Given the description of an element on the screen output the (x, y) to click on. 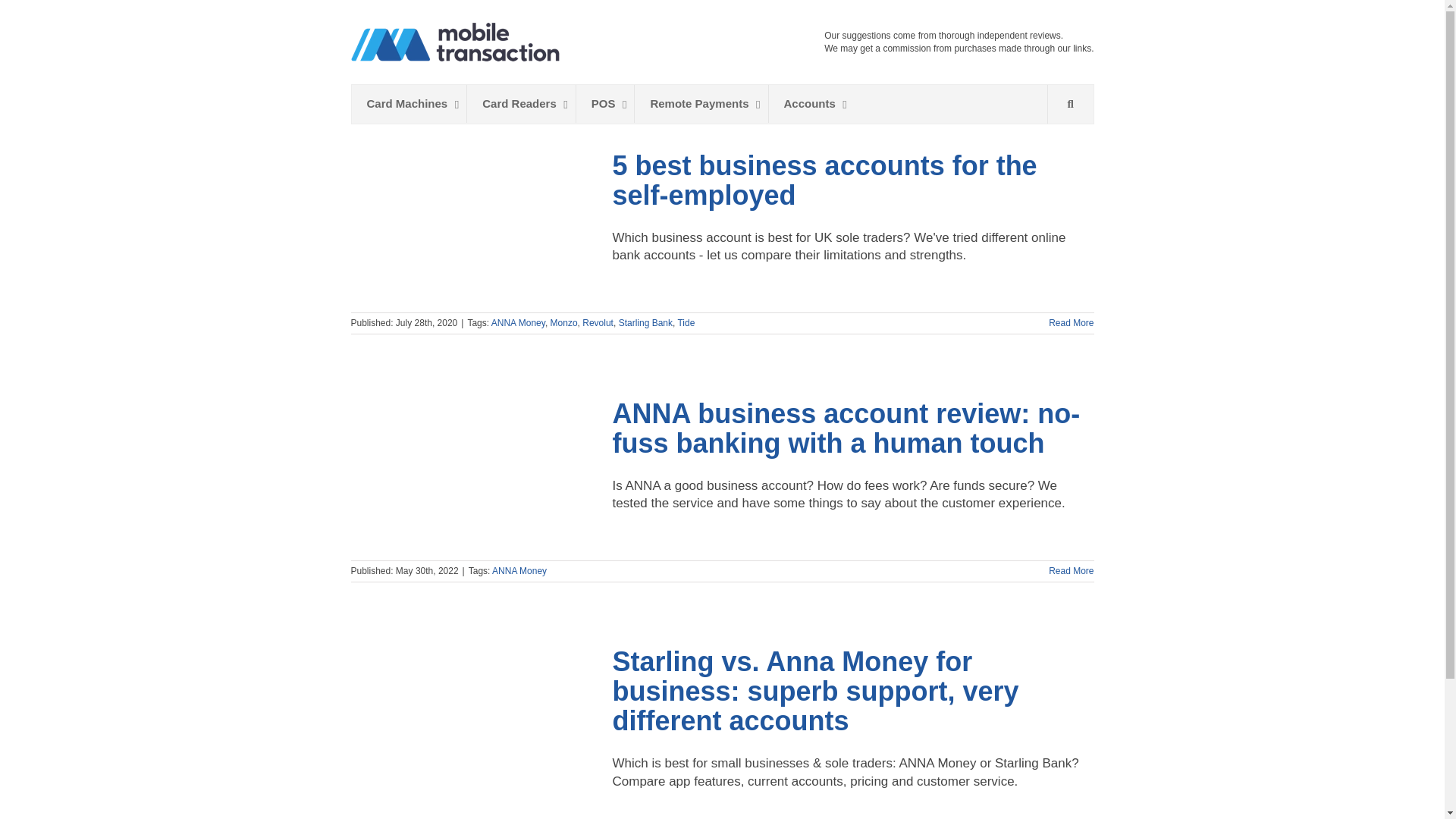
Card Readers (520, 103)
Standalone Card Machines (409, 103)
Card Readers for use with phone or tablet (721, 104)
Point of Sale (520, 103)
POS (604, 103)
Card Machines (604, 103)
